Given the description of an element on the screen output the (x, y) to click on. 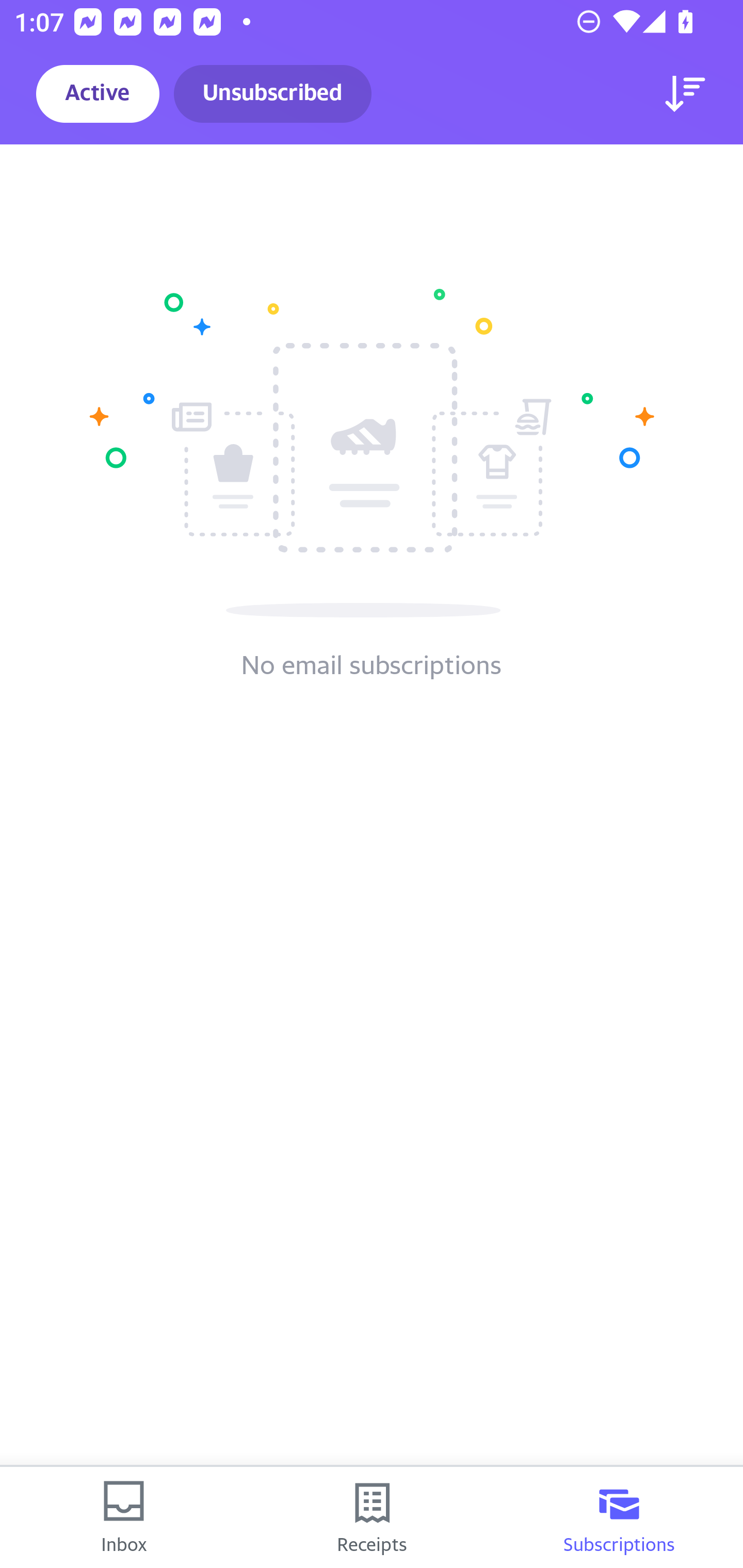
Unsubscribed (272, 93)
Sort (684, 93)
Inbox (123, 1517)
Receipts (371, 1517)
Subscriptions (619, 1517)
